Given the description of an element on the screen output the (x, y) to click on. 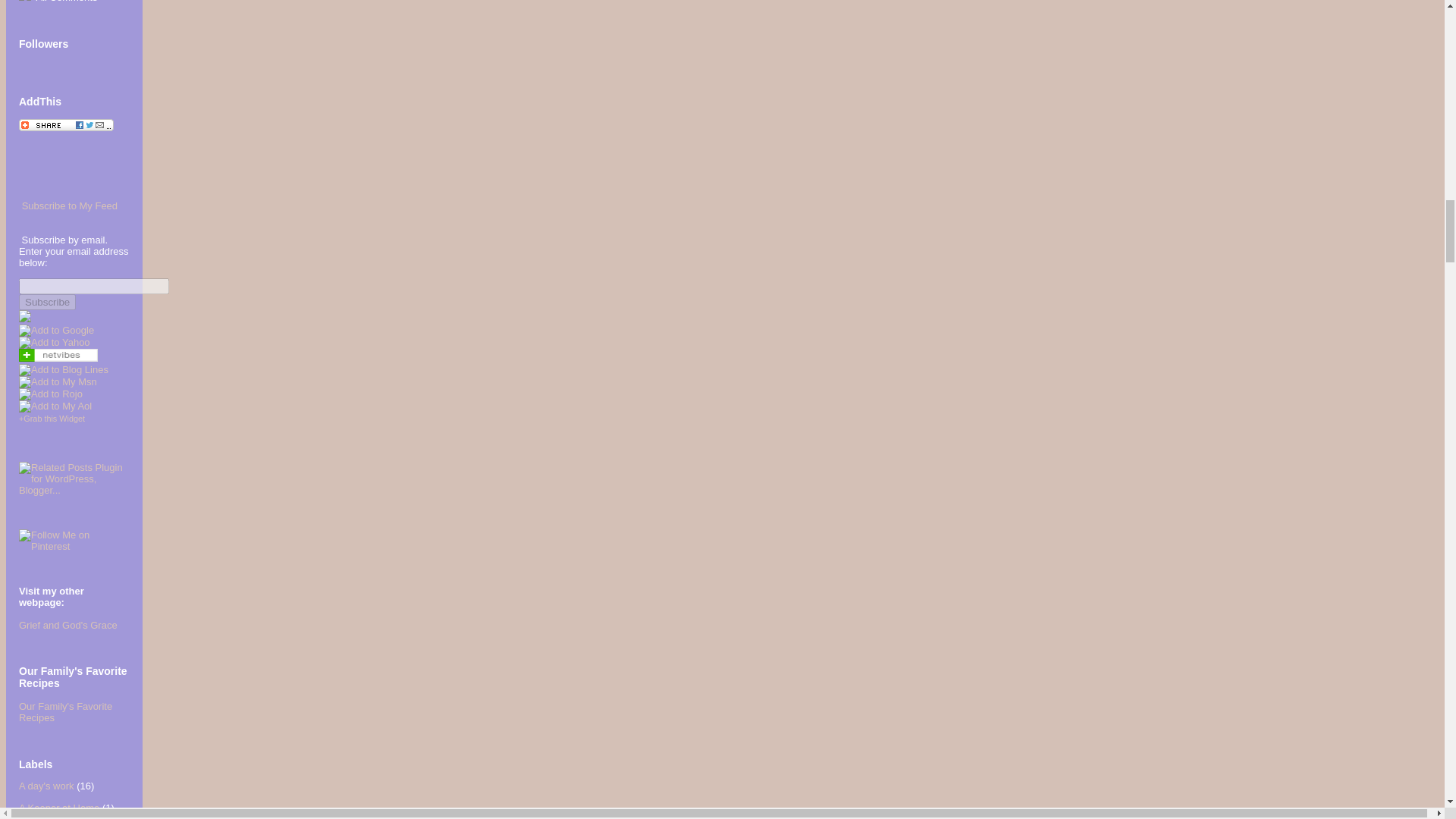
Subscribe (46, 302)
Subscribe (46, 302)
Subscribe to My Feed (69, 205)
Subscribe to my feed (69, 205)
